Given the description of an element on the screen output the (x, y) to click on. 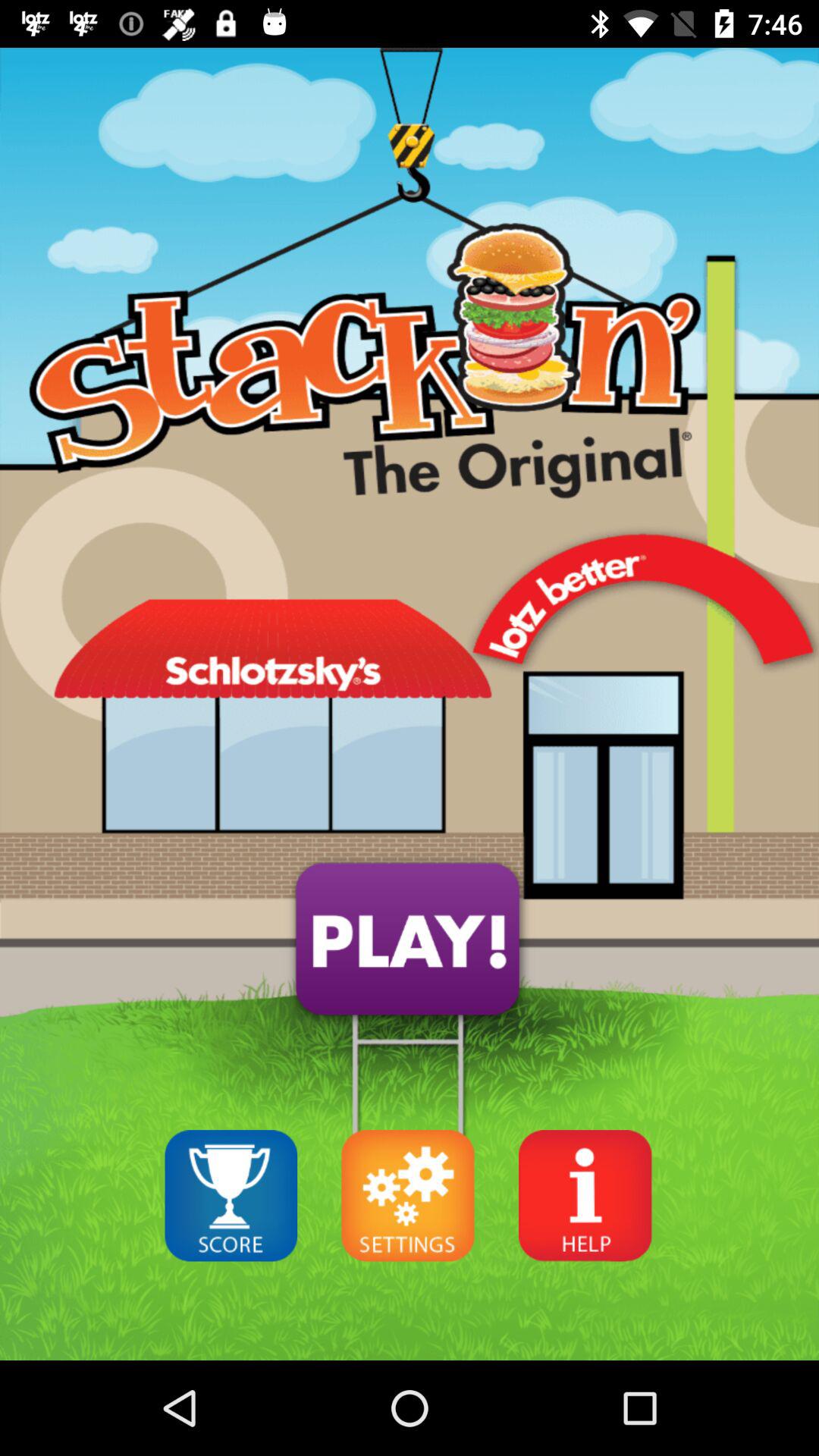
click to setting option (407, 1195)
